Given the description of an element on the screen output the (x, y) to click on. 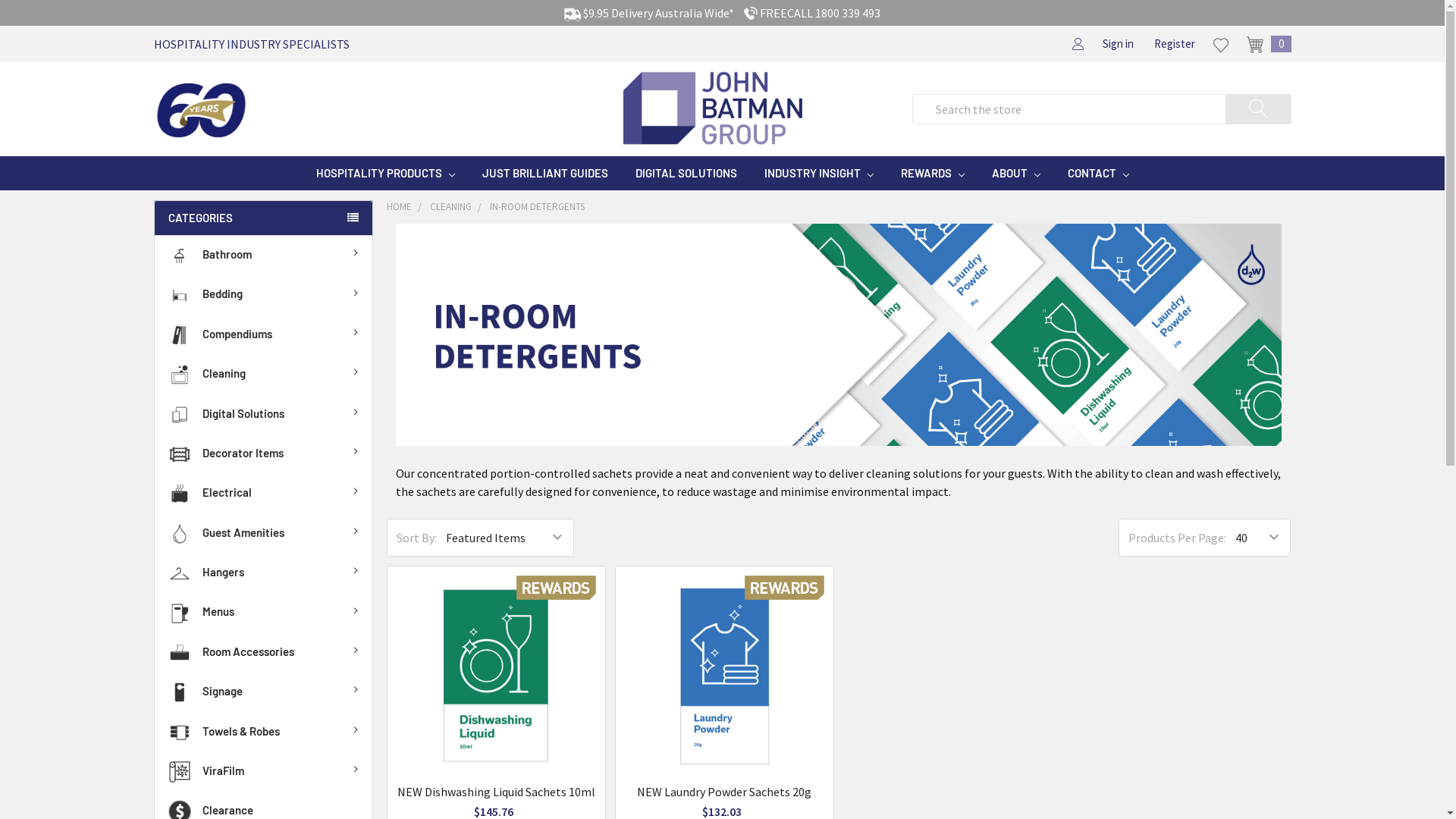
Signage Element type: text (263, 692)
0 Element type: text (1264, 43)
Decorator Items Element type: text (263, 453)
Guest Amenities Element type: text (263, 533)
Bathroom Element type: text (263, 255)
DIGITAL SOLUTIONS Element type: text (685, 173)
Compendiums Element type: text (263, 334)
IN-ROOM DETERGENTS Element type: text (536, 206)
Sign in Element type: text (1117, 44)
Menus Element type: text (263, 612)
CATEGORIES Element type: text (262, 217)
REWARDS Element type: hover (496, 675)
Cleaning Element type: text (263, 374)
NEW Dishwashing Liquid Sachets 10ml Element type: text (496, 791)
$9.95 Delivery Australia Wide* FREECALL 1800 339 493 Element type: text (722, 12)
NEW Laundry Powder Sachets 20g Element type: text (724, 791)
INDUSTRY INSIGHT Element type: text (818, 173)
Room Accessories Element type: text (263, 652)
2022-sub-category-header-cleaning-in-room-detergents.jpg Element type: hover (838, 334)
Search Element type: text (1267, 112)
CONTACT Element type: text (1098, 173)
Register Element type: text (1174, 44)
ViraFilm Element type: text (263, 771)
Digital Solutions Element type: text (263, 414)
Hangers Element type: text (263, 573)
ABOUT Element type: text (1016, 173)
Bedding Element type: text (263, 294)
Towels & Robes Element type: text (263, 732)
Electrical Element type: text (263, 493)
REWARDS Element type: text (932, 173)
HOME Element type: text (398, 206)
CLEANING Element type: text (450, 206)
REWARDS Element type: hover (724, 675)
HOSPITALITY PRODUCTS Element type: text (384, 173)
JUST BRILLIANT GUIDES Element type: text (544, 173)
